Given the description of an element on the screen output the (x, y) to click on. 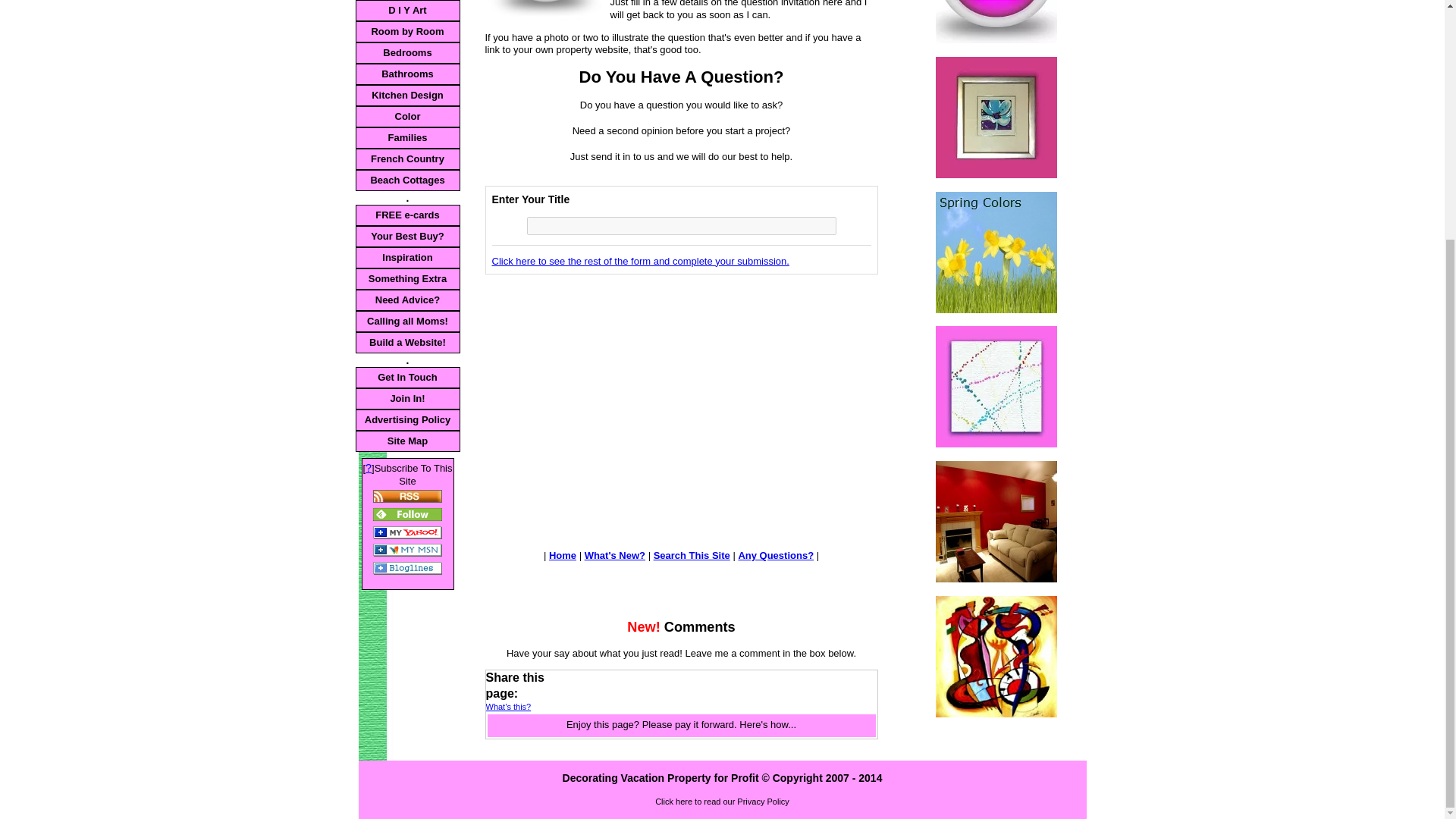
Something Extra (407, 278)
Home (562, 555)
Bedrooms (407, 52)
FREE e-cards (407, 215)
Color (407, 116)
Advertisement (611, 389)
Splatter painting (996, 386)
Search This Site (691, 555)
Bathrooms (407, 74)
Accent wall (996, 521)
What's New? (615, 555)
D I Y Art (407, 10)
What's New? (996, 21)
Inspiration (407, 257)
